Given the description of an element on the screen output the (x, y) to click on. 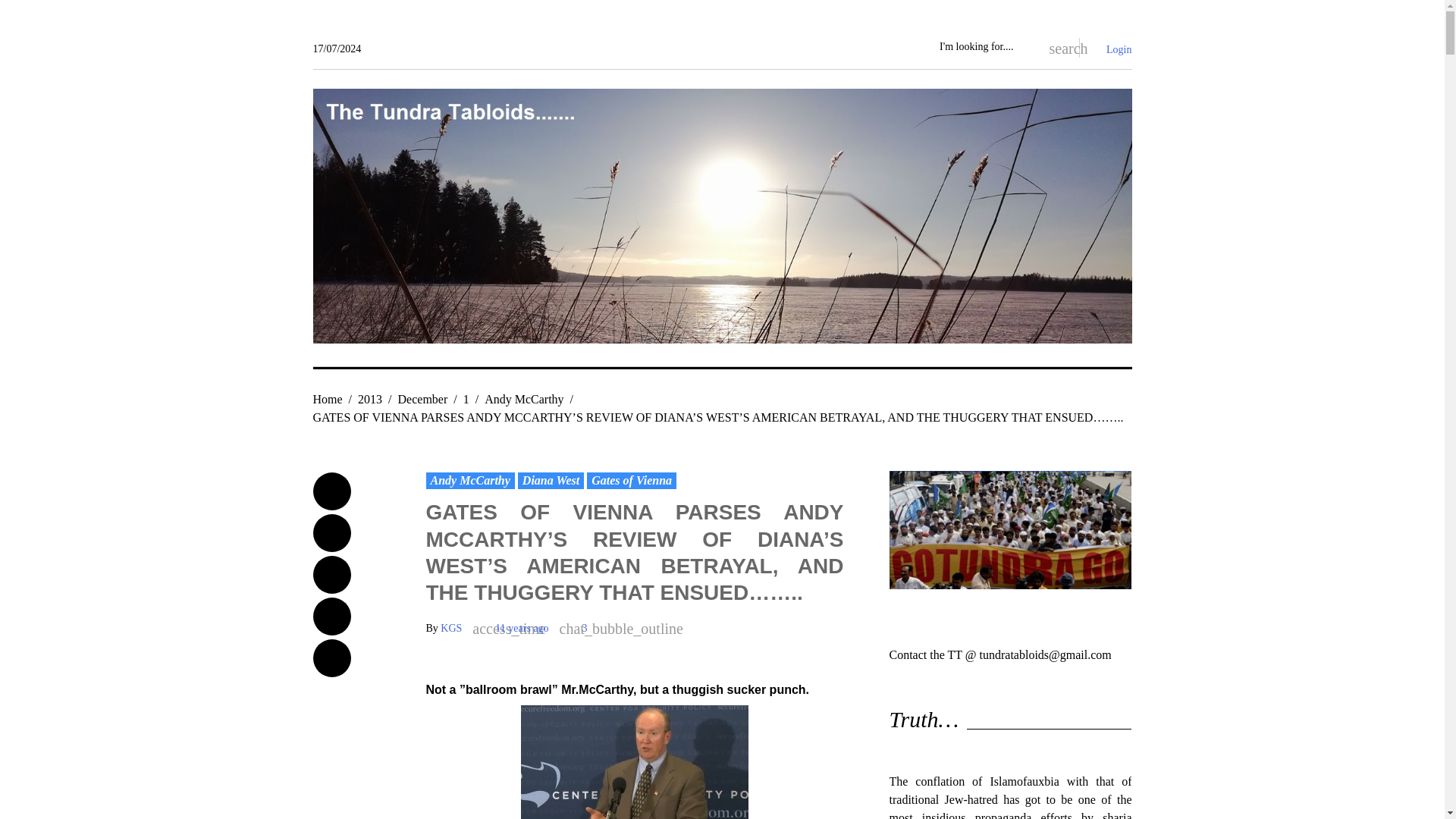
Twitter (331, 533)
Home (327, 399)
Login (1118, 49)
Share on Pinterest (331, 658)
Facebook (331, 491)
2013 (369, 399)
Search for: (984, 47)
11 years ago (521, 627)
Pinterest (331, 658)
LinkedIn (331, 616)
Share on LinkedIn (331, 616)
Andy McCarthy (523, 399)
Andy McCarthy (470, 480)
December (422, 399)
Home (327, 399)
